Given the description of an element on the screen output the (x, y) to click on. 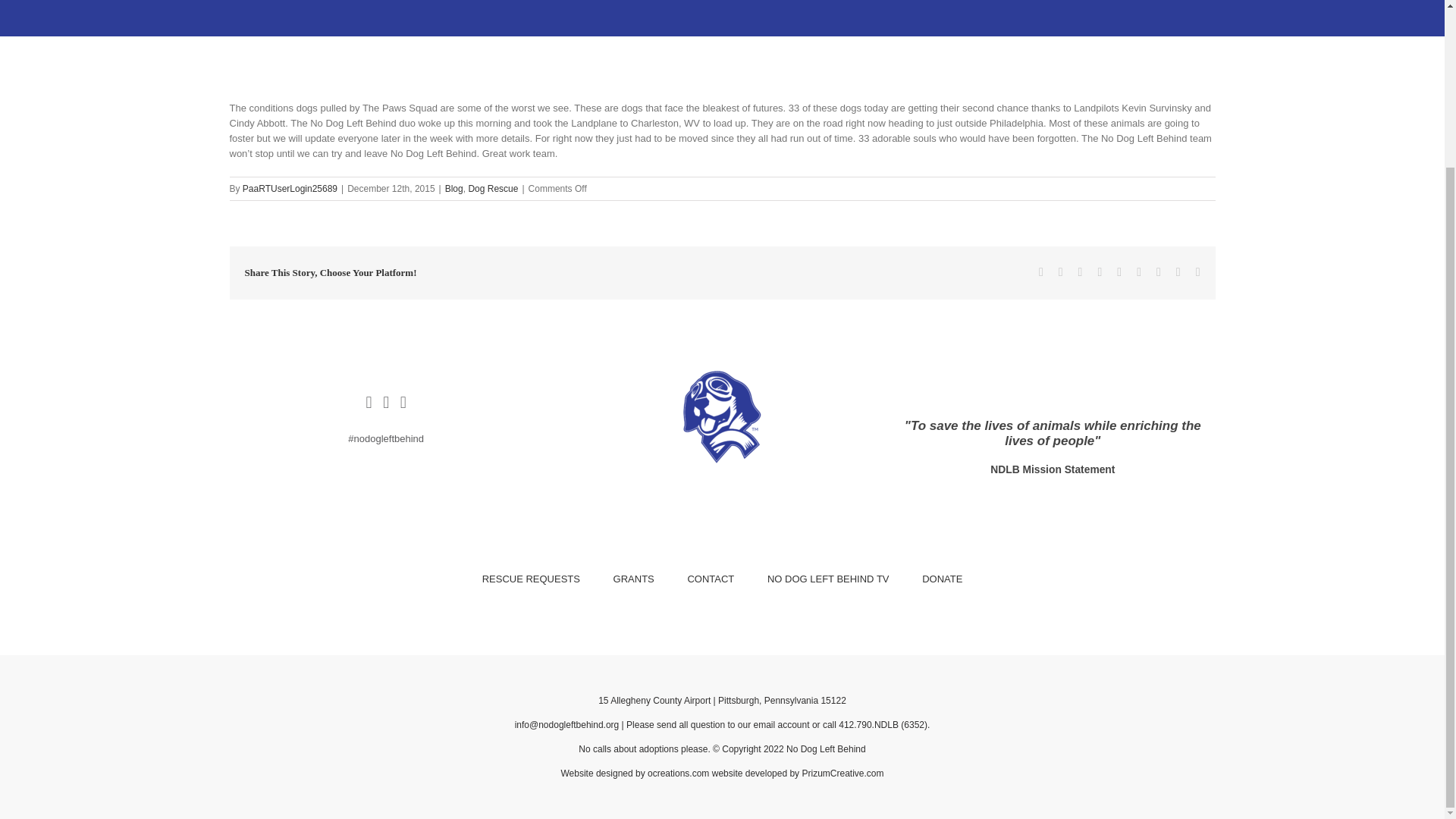
NO DOG LEFT BEHIND TV (828, 578)
GRANTS (632, 578)
Blog (454, 188)
CONTACT (710, 578)
Dog Rescue (492, 188)
Posts by PaaRTUserLogin25689 (290, 188)
PaaRTUserLogin25689 (290, 188)
DONATE (941, 578)
RESCUE REQUESTS (530, 578)
